Given the description of an element on the screen output the (x, y) to click on. 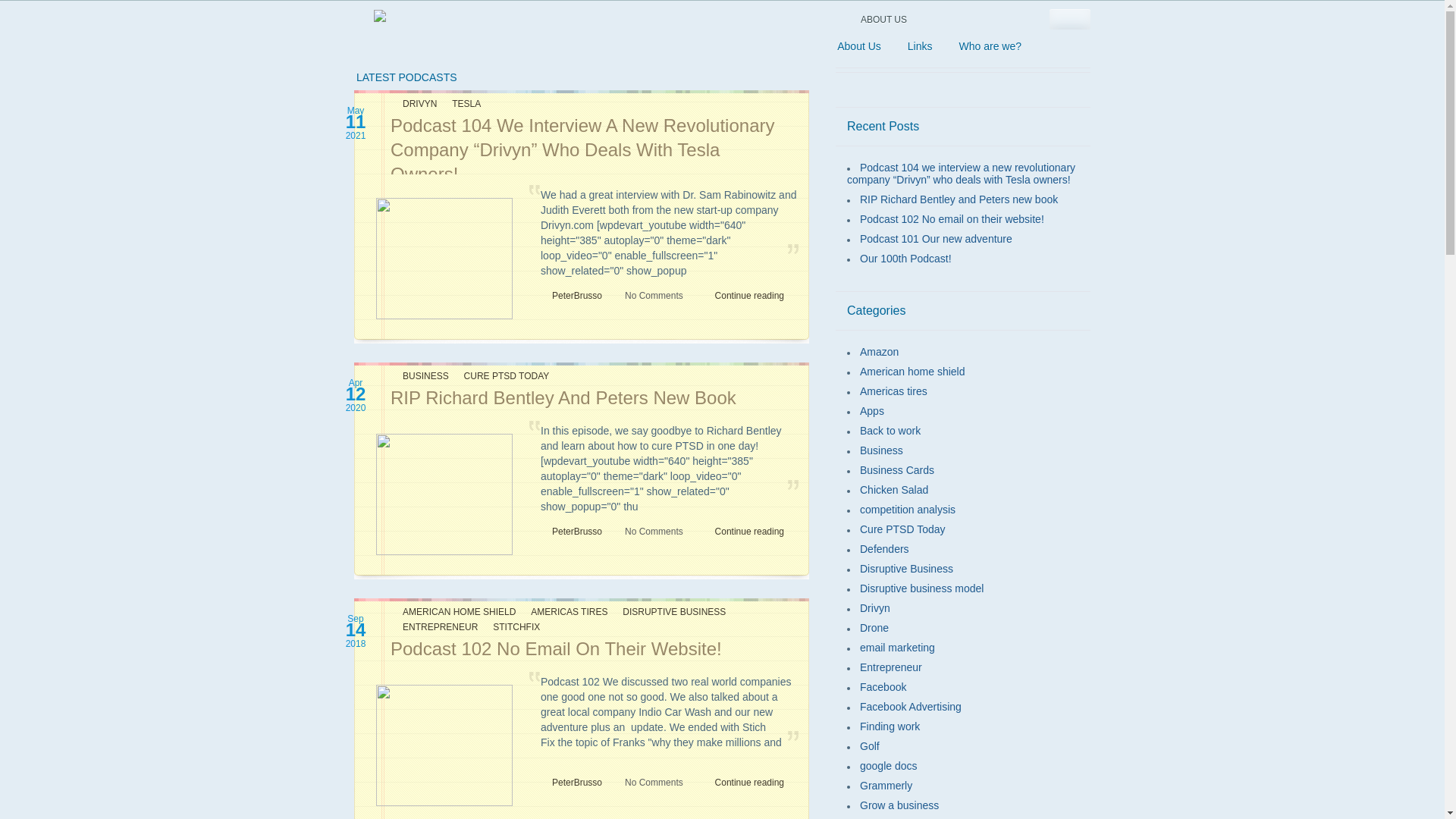
RIP Richard Bentley and Peters new book Element type: text (958, 199)
Podcast 102 No Email On Their Website! Element type: text (555, 648)
ENTREPRENEUR Element type: text (434, 626)
google docs Element type: text (888, 765)
Disruptive business model Element type: text (921, 588)
facebook Element type: text (1050, 46)
email marketing Element type: text (897, 647)
Links Element type: text (919, 45)
Defenders Element type: text (884, 548)
Apps Element type: text (871, 410)
Home Element type: text (808, 45)
TESLA Element type: text (461, 103)
DRIVYN Element type: text (414, 103)
PeterBrusso Element type: text (577, 782)
DISRUPTIVE BUSINESS Element type: text (668, 611)
No Comments Element type: text (647, 531)
AMERICAN HOME SHIELD Element type: text (453, 611)
Americas tires Element type: text (893, 391)
CURE PTSD TODAY Element type: text (501, 375)
RIP Richard Bentley And Peters New Book Element type: text (563, 397)
Amazon Element type: text (878, 351)
Drone Element type: text (873, 627)
PeterBrusso Element type: text (577, 295)
ABOUT US Element type: text (883, 19)
Podcast 102 No email on their website! Element type: text (951, 219)
Business Cards Element type: text (896, 470)
Chicken Salad Element type: text (893, 489)
Continue reading Element type: text (753, 531)
competition analysis Element type: text (907, 509)
Cure PTSD Today Element type: text (902, 529)
Grammerly Element type: text (885, 785)
No Comments Element type: text (647, 782)
American home shield Element type: text (912, 371)
About Us Element type: text (858, 45)
Back to work Element type: text (889, 430)
Drivyn Element type: text (874, 608)
Our 100th Podcast! Element type: text (905, 258)
Podcast 101 Our new adventure Element type: text (935, 238)
PeterBrusso Element type: text (577, 531)
STITCHFIX Element type: text (511, 626)
Finding work Element type: text (889, 726)
gplus Element type: text (1074, 46)
Continue reading Element type: text (753, 782)
No Comments Element type: text (647, 295)
BUSINESS Element type: text (420, 375)
Grow a business Element type: text (898, 805)
Who are we? Element type: text (989, 45)
Continue reading Element type: text (753, 295)
Golf Element type: text (869, 746)
Facebook Element type: text (882, 686)
AMERICAS TIRES Element type: text (563, 611)
Facebook Advertising Element type: text (910, 706)
Disruptive Business Element type: text (906, 568)
Entrepreneur Element type: text (890, 667)
Business Element type: text (881, 450)
